Given the description of an element on the screen output the (x, y) to click on. 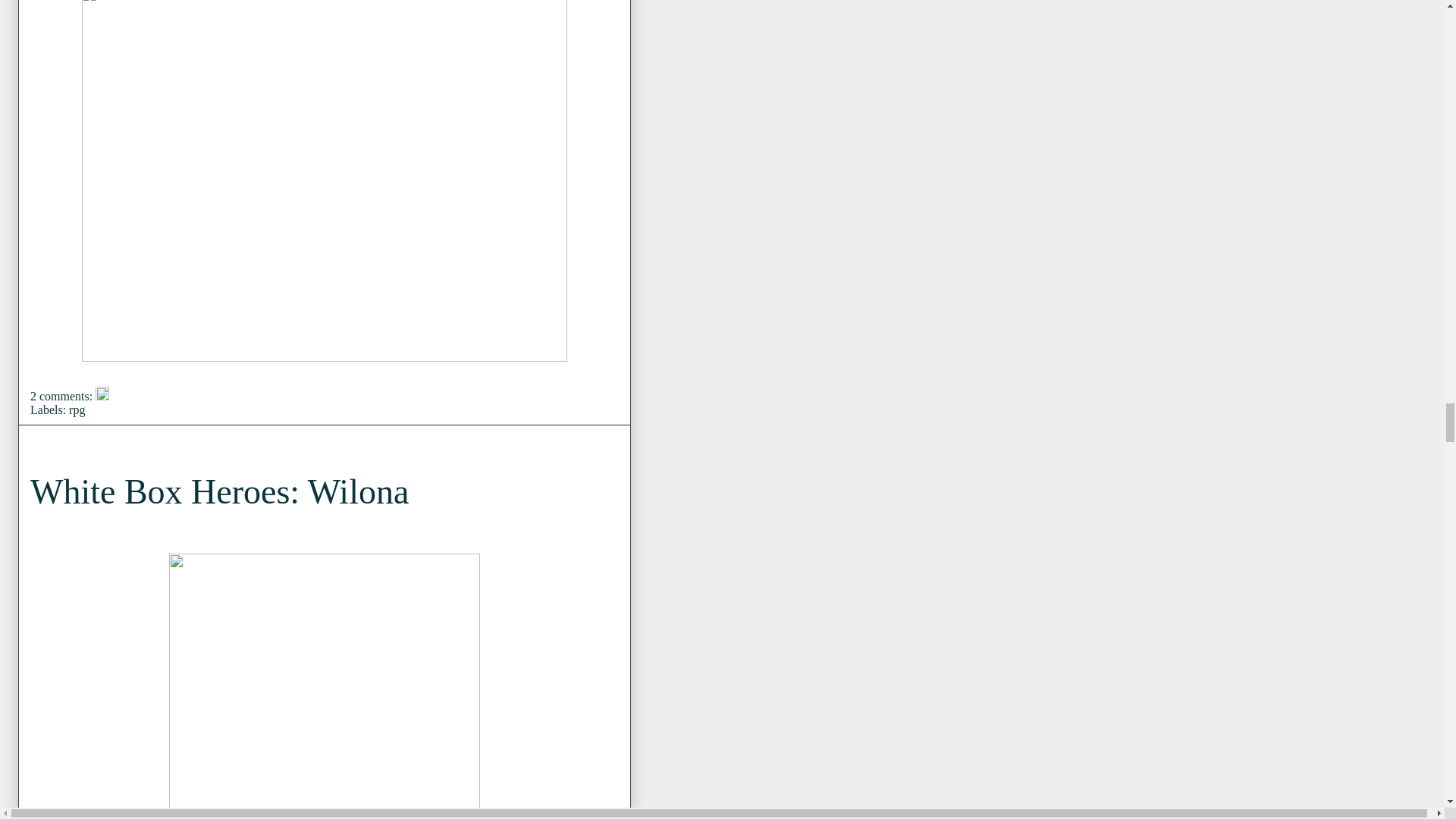
Edit Post (102, 395)
